Given the description of an element on the screen output the (x, y) to click on. 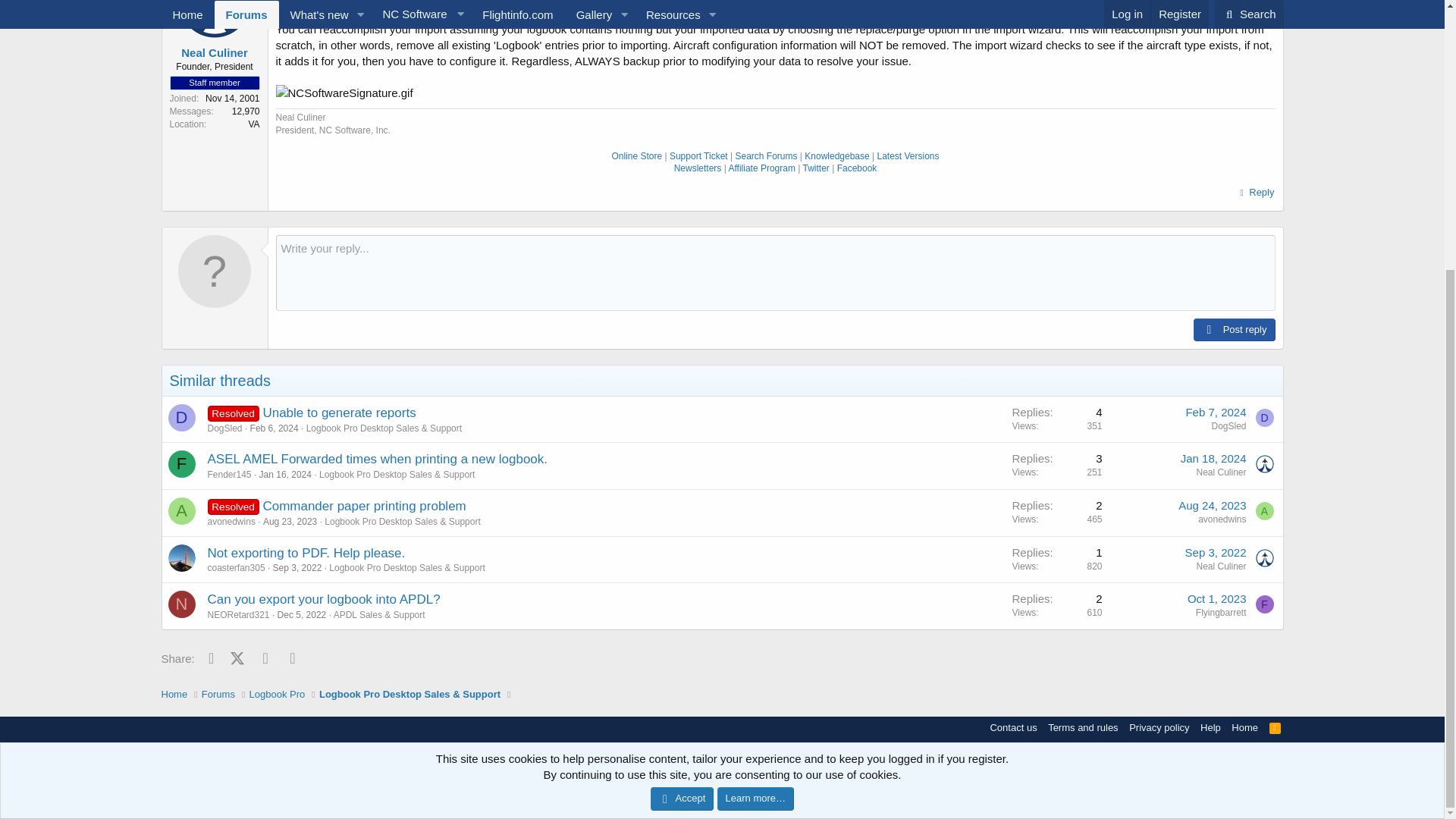
First message reaction score: 0 (1057, 465)
Feb 7, 2024 at 6:39 PM (1215, 411)
Jan 16, 2024 at 3:34 PM (285, 474)
Aug 23, 2023 at 4:28 PM (290, 521)
Feb 6, 2024 at 6:32 PM (274, 428)
First message reaction score: 0 (1057, 511)
Jan 18, 2024 at 9:21 AM (1213, 458)
NCSoftwareSignature.gif (344, 92)
Reply, quoting this message (1254, 192)
First message reaction score: 0 (1057, 419)
